Given the description of an element on the screen output the (x, y) to click on. 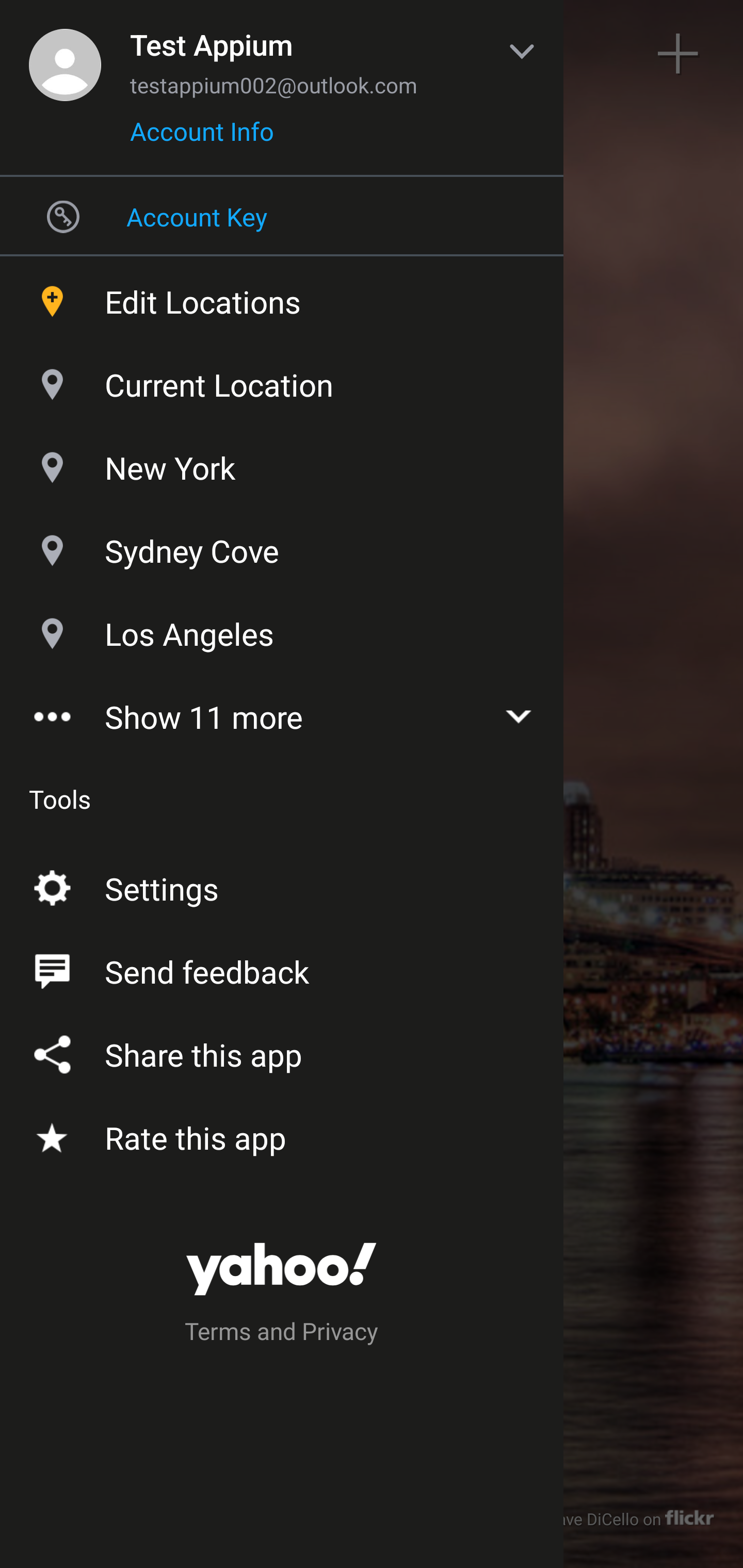
Sidebar (64, 54)
Account Info (202, 137)
Account Key (281, 216)
Edit Locations (281, 296)
Current Location (281, 379)
New York (281, 462)
Sydney Cove (281, 546)
Los Angeles (281, 629)
Settings (281, 884)
Send feedback (281, 967)
Share this app (281, 1050)
Terms and Privacy Terms and privacy button (281, 1334)
